Given the description of an element on the screen output the (x, y) to click on. 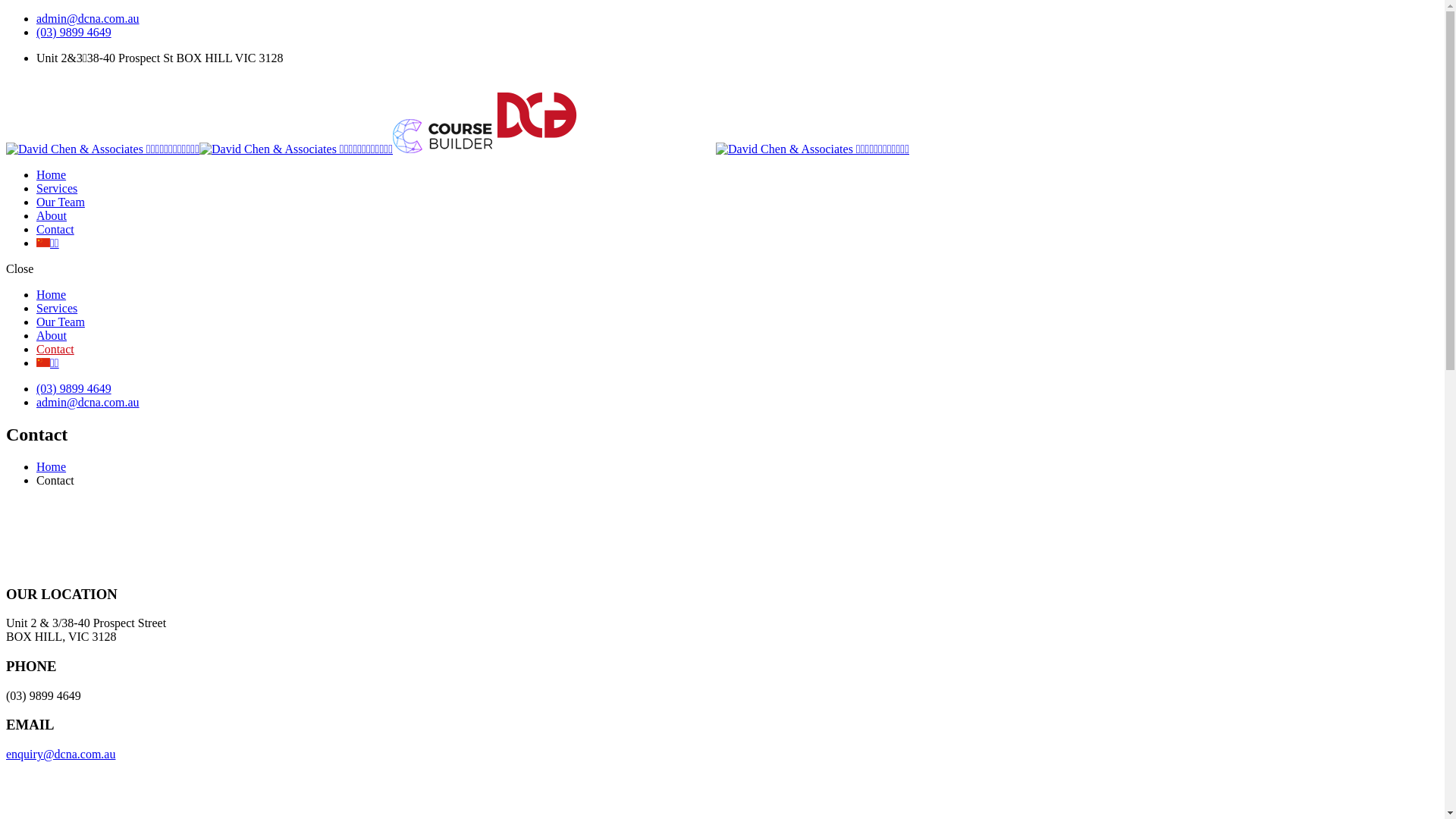
Our Team Element type: text (60, 321)
Home Element type: text (50, 174)
Contact Element type: text (55, 348)
enquiry@dcna.com.au Element type: text (60, 753)
Home Element type: text (50, 466)
Services Element type: text (56, 188)
admin@dcna.com.au Element type: text (87, 401)
Contact Element type: text (55, 228)
Services Element type: text (56, 307)
About Element type: text (51, 215)
(03) 9899 4649 Element type: text (73, 31)
admin@dcna.com.au Element type: text (87, 18)
Our Team Element type: text (60, 201)
(03) 9899 4649 Element type: text (73, 388)
Home Element type: text (50, 294)
About Element type: text (51, 335)
